Given the description of an element on the screen output the (x, y) to click on. 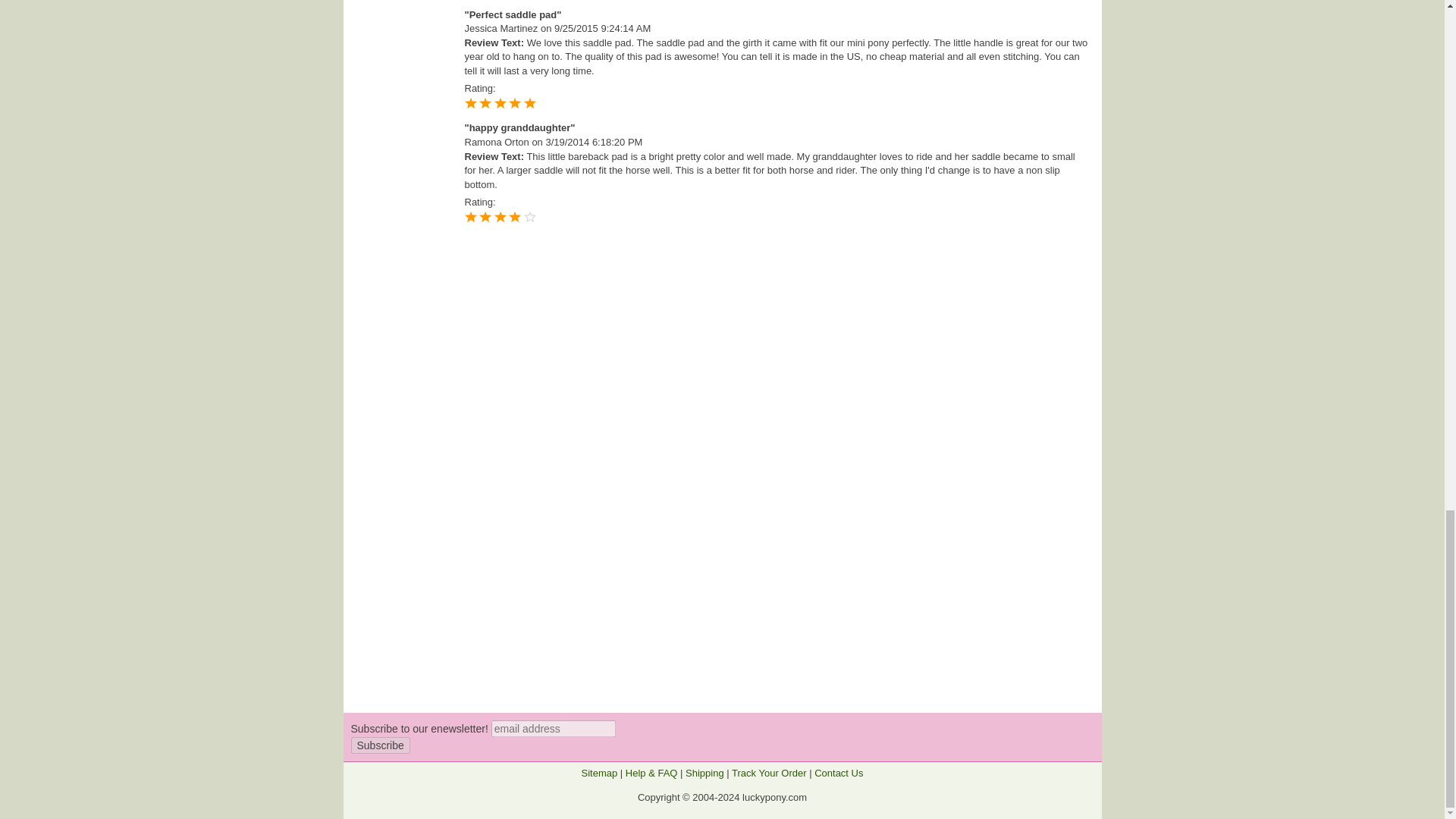
Subscribe (379, 745)
